Given the description of an element on the screen output the (x, y) to click on. 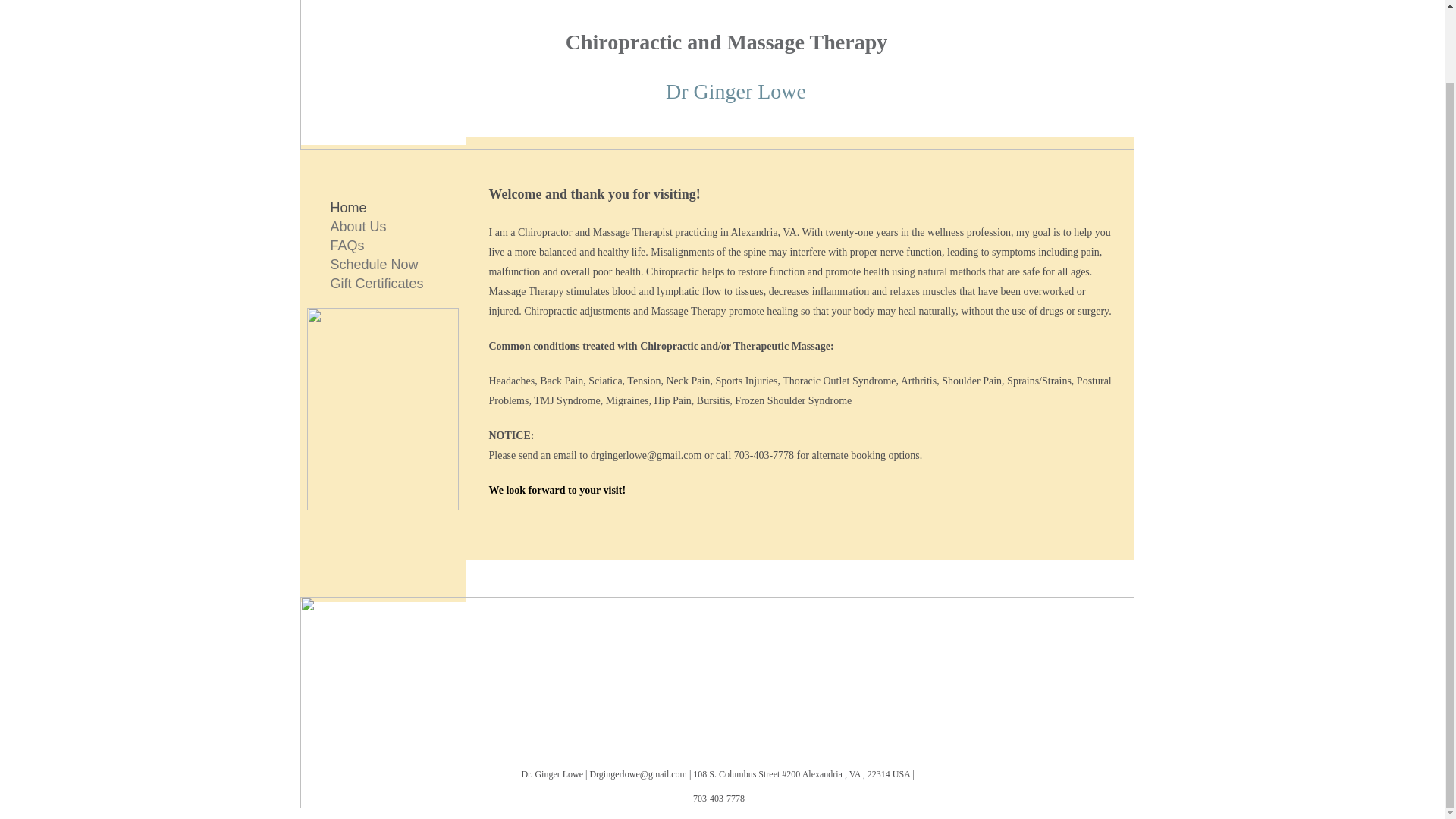
FAQs (347, 245)
Home (348, 207)
About Us (358, 226)
Schedule Now (374, 264)
Gift Certificates (376, 283)
